Given the description of an element on the screen output the (x, y) to click on. 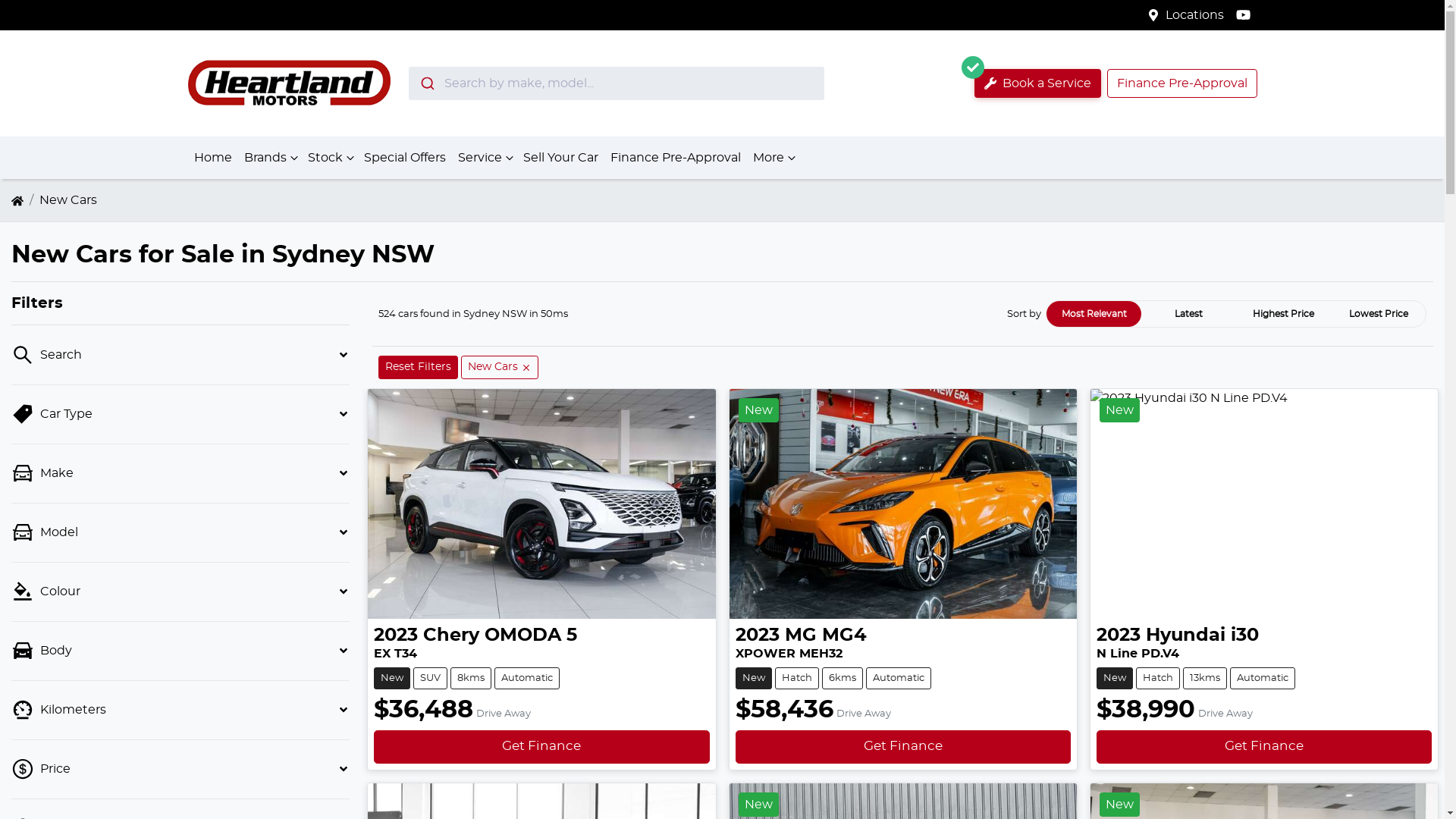
Search Element type: text (180, 355)
Reset Filters Element type: text (418, 367)
Get Finance Element type: text (1263, 746)
Finance Pre-Approval Element type: text (1182, 82)
Model Element type: text (180, 532)
Book a Service Element type: text (1036, 82)
Home Element type: text (213, 157)
Sell Your Car Element type: text (560, 157)
Body Element type: text (180, 650)
Finance Pre-Approval Element type: text (674, 157)
Get Finance Element type: text (541, 746)
Get Finance Element type: text (902, 746)
Submit Element type: hover (426, 83)
Price Element type: text (180, 769)
More Element type: text (772, 157)
Locations Element type: text (1194, 15)
Service Element type: text (484, 157)
Colour Element type: text (180, 591)
Stock Element type: text (329, 157)
New Element type: text (1263, 503)
New Element type: text (902, 503)
Brands Element type: text (269, 157)
Make Element type: text (180, 473)
Kilometers Element type: text (180, 710)
Car Type Element type: text (180, 414)
Special Offers Element type: text (404, 157)
